Given the description of an element on the screen output the (x, y) to click on. 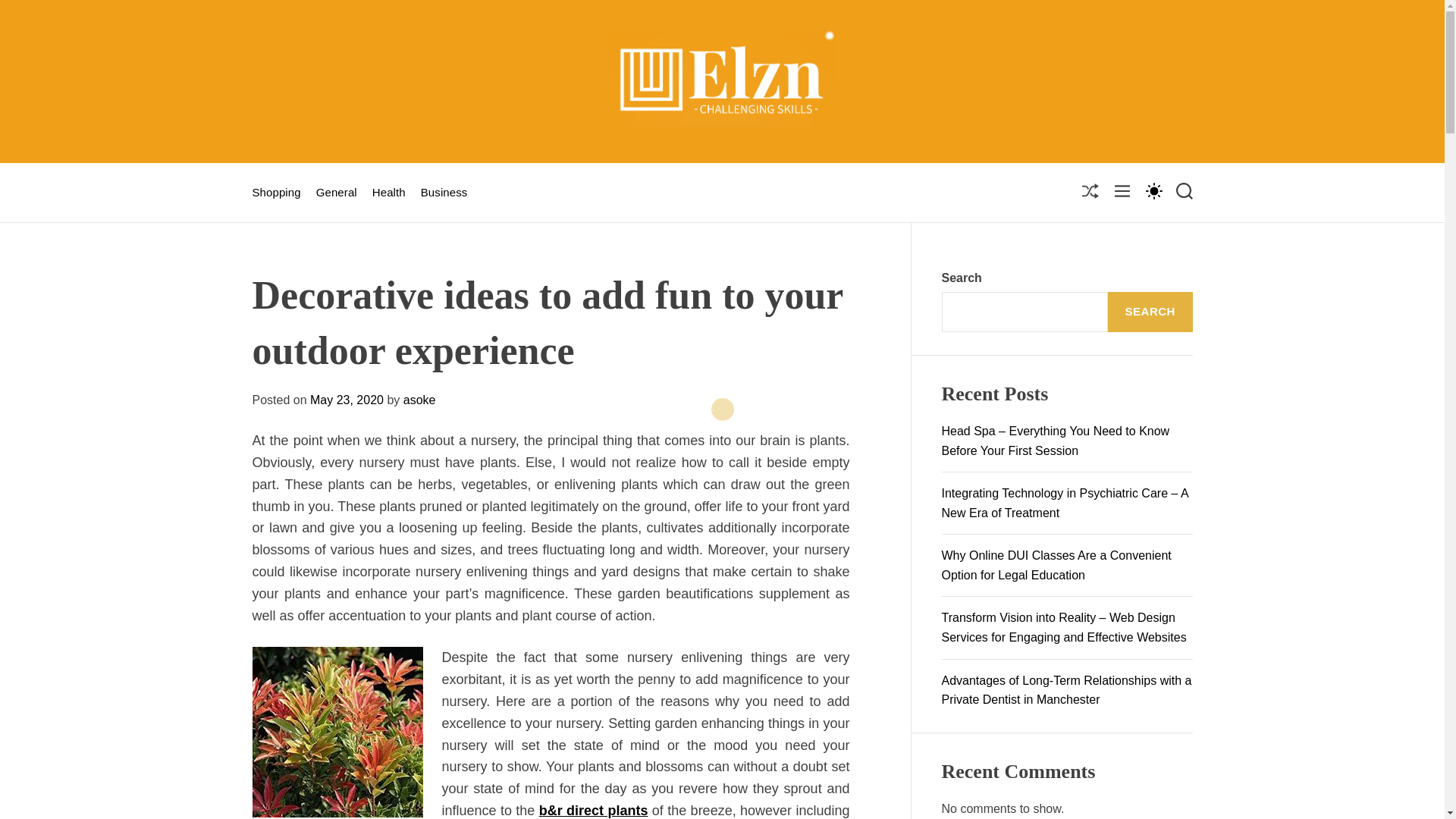
asoke (419, 399)
Shopping (275, 192)
Health (389, 192)
Business (443, 192)
General (335, 192)
May 23, 2020 (347, 399)
SWITCH COLOR MODE (1152, 190)
SEARCH (1150, 311)
